Given the description of an element on the screen output the (x, y) to click on. 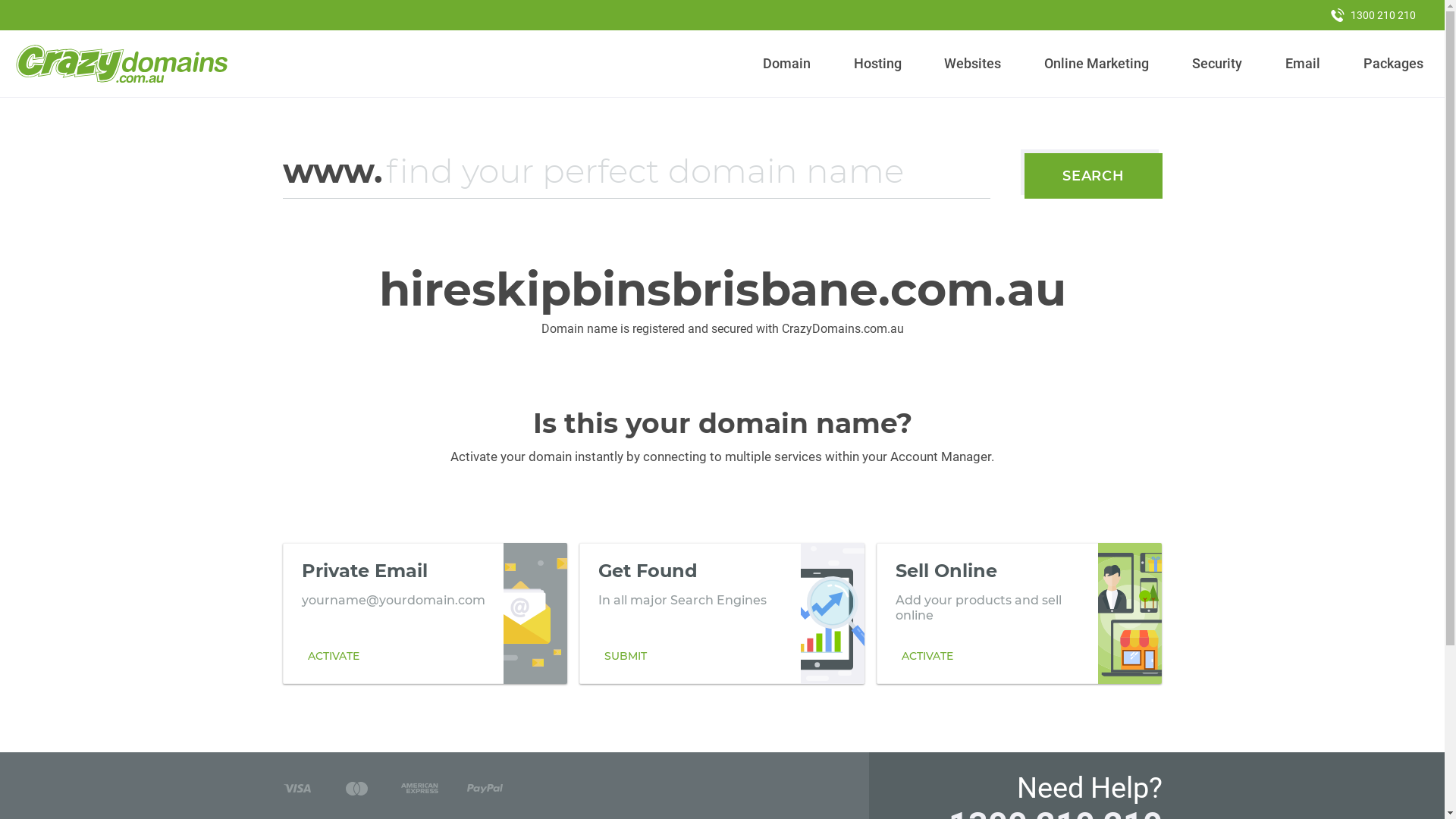
1300 210 210 Element type: text (1373, 15)
Hosting Element type: text (877, 63)
Websites Element type: text (972, 63)
Sell Online
Add your products and sell online
ACTIVATE Element type: text (1018, 613)
Online Marketing Element type: text (1096, 63)
Packages Element type: text (1392, 63)
Email Element type: text (1302, 63)
Security Element type: text (1217, 63)
SEARCH Element type: text (1092, 175)
Private Email
yourname@yourdomain.com
ACTIVATE Element type: text (424, 613)
Get Found
In all major Search Engines
SUBMIT Element type: text (721, 613)
Domain Element type: text (786, 63)
